Given the description of an element on the screen output the (x, y) to click on. 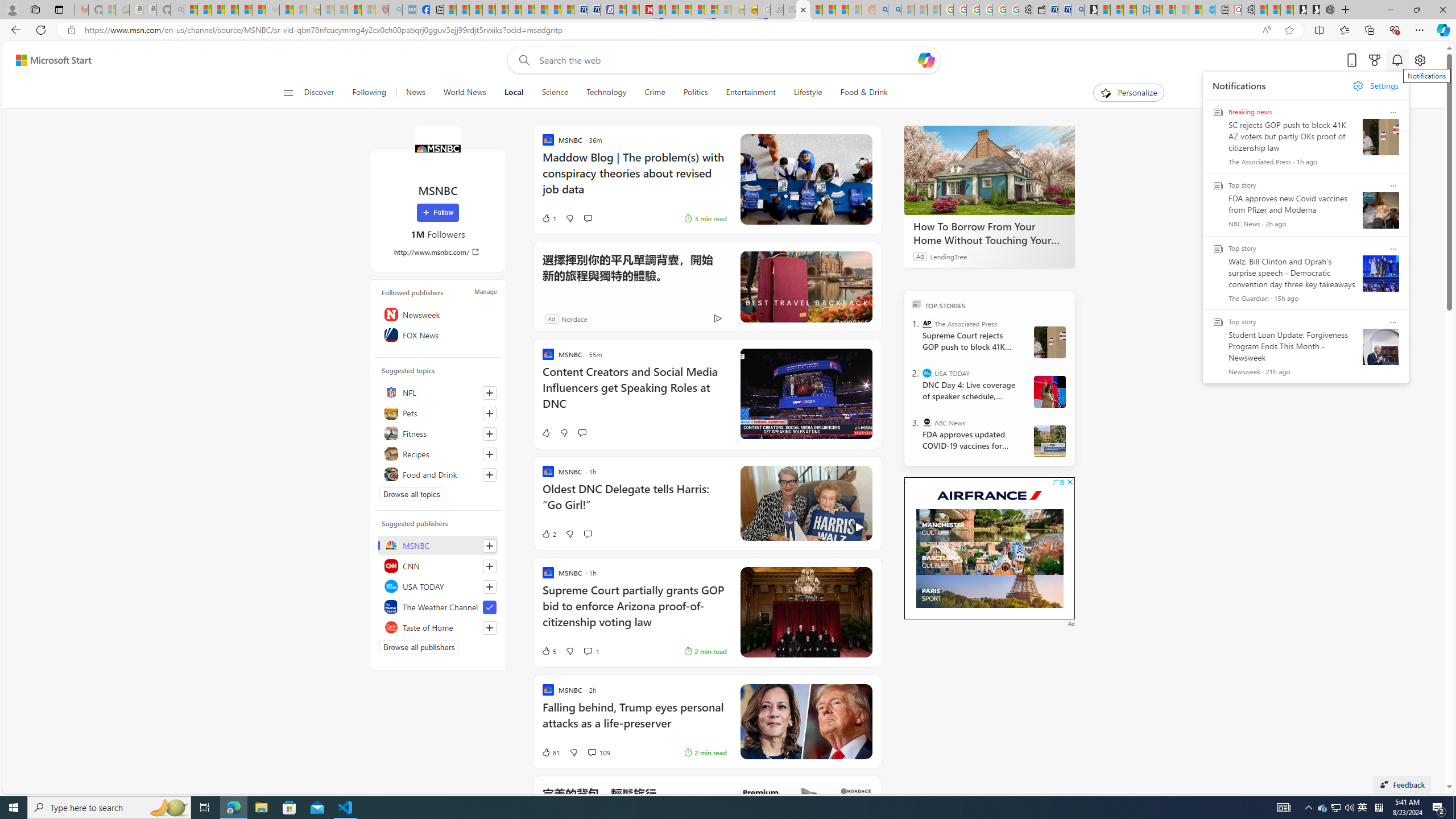
The Weather Channel - MSN (218, 9)
How To Borrow From Your Home Without Touching Your Mortgage (989, 169)
Web search (520, 60)
Manage (485, 291)
